Given the description of an element on the screen output the (x, y) to click on. 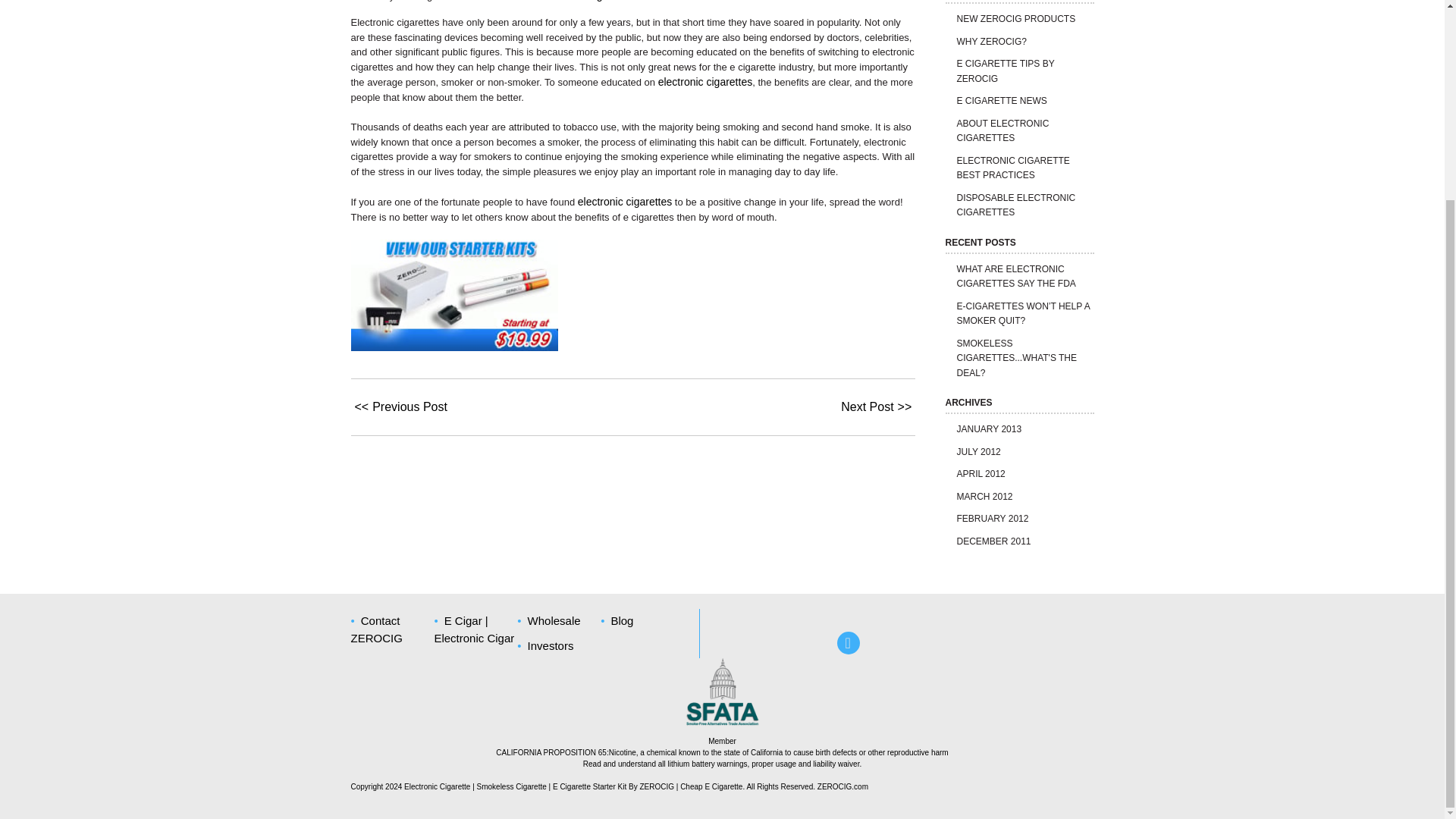
ZeroCig Starter Kits (453, 346)
ABOUT ELECTRONIC CIGARETTES (1002, 130)
zerocig (705, 81)
ELECTRONIC CIGARETTE BEST PRACTICES (1013, 167)
E CIGARETTE NEWS (1001, 100)
DISPOSABLE ELECTRONIC CIGARETTES (1015, 204)
WHY ZEROCIG? (991, 40)
NEW ZEROCIG PRODUCTS (1015, 18)
E CIGARETTE TIPS BY ZEROCIG (1005, 71)
